Given the description of an element on the screen output the (x, y) to click on. 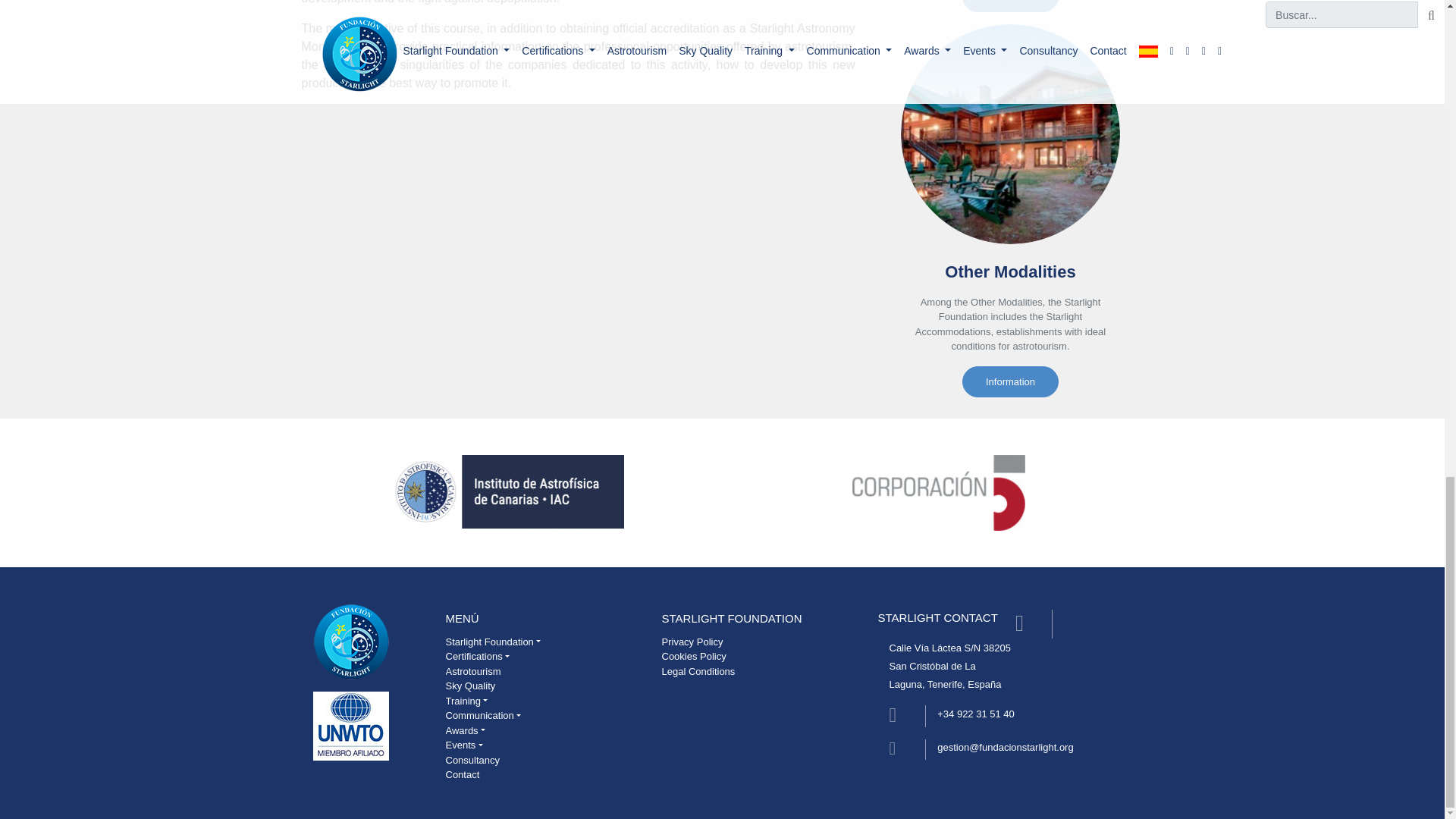
Instituto de Astrofisica de Canarias (505, 491)
